Given the description of an element on the screen output the (x, y) to click on. 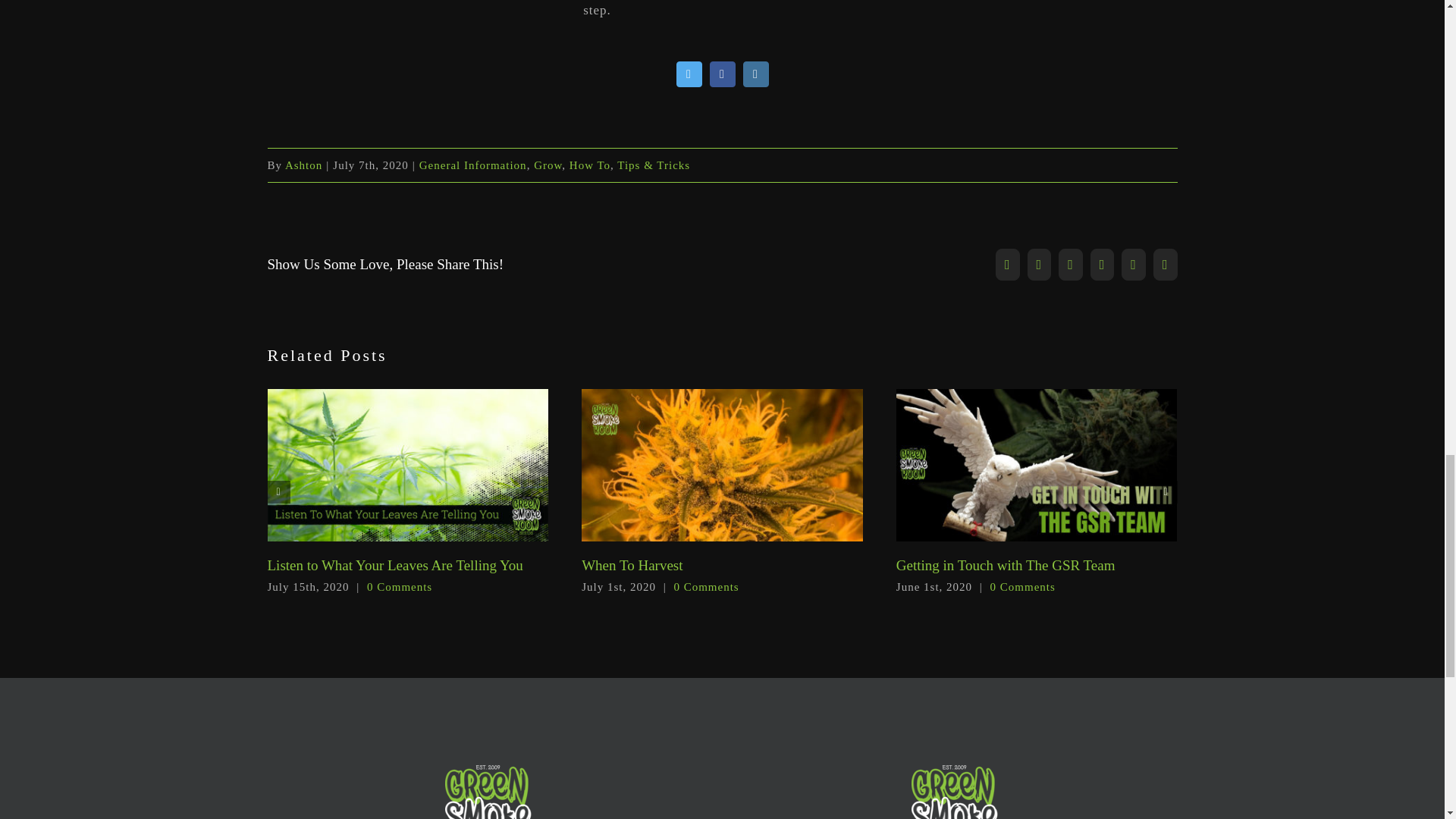
Getting in Touch with The GSR Team (1005, 565)
Getting in Touch with The GSR Team (1005, 565)
0 Comments (399, 586)
Twitter (689, 73)
How To (589, 164)
General Information (473, 164)
Facebook (722, 73)
When To Harvest (631, 565)
Grow (548, 164)
0 Comments (705, 586)
